Given the description of an element on the screen output the (x, y) to click on. 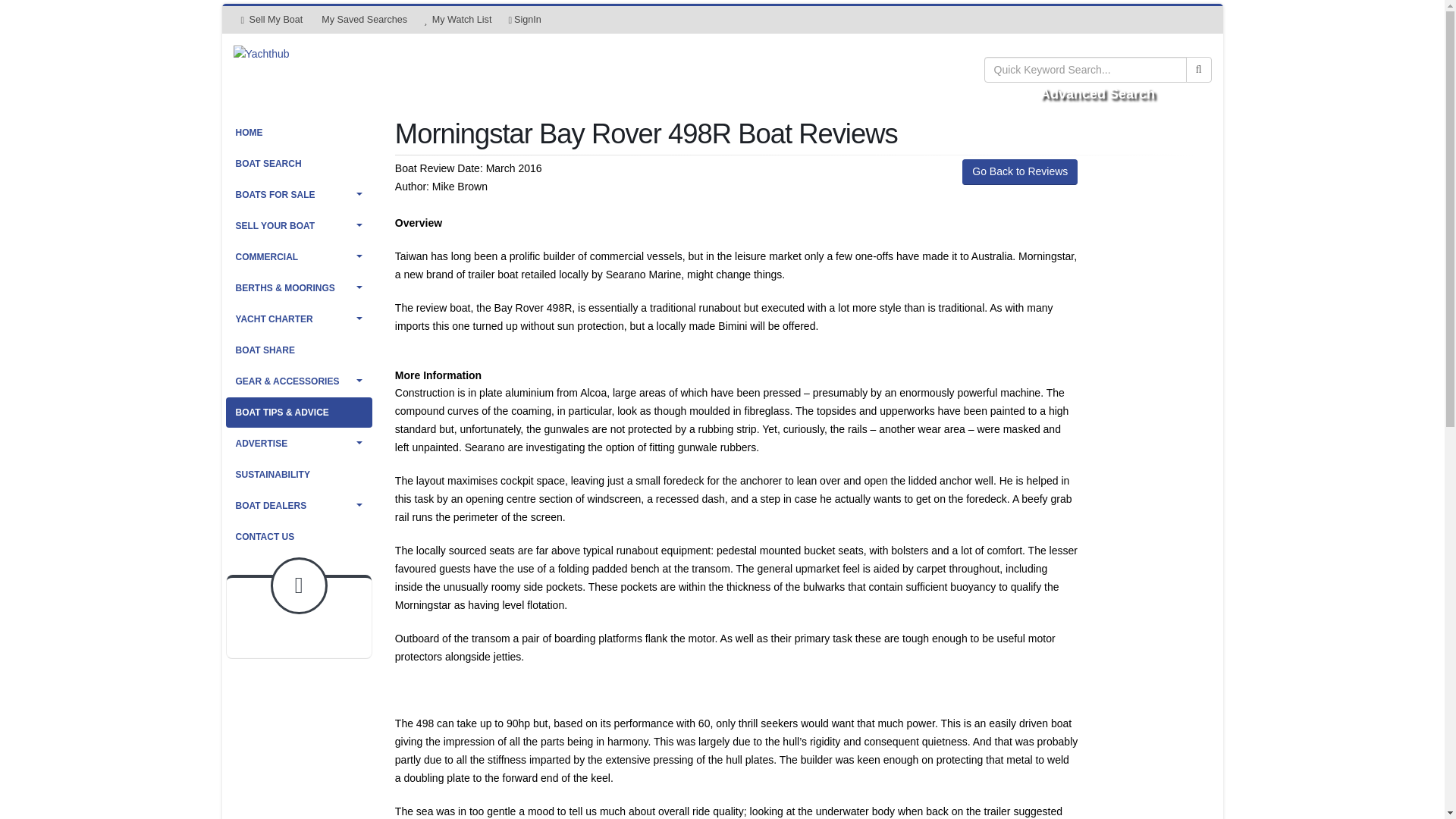
SignIn (524, 19)
My Watch List (457, 19)
My Saved Searches (362, 19)
Sell My Boat (271, 19)
